Given the description of an element on the screen output the (x, y) to click on. 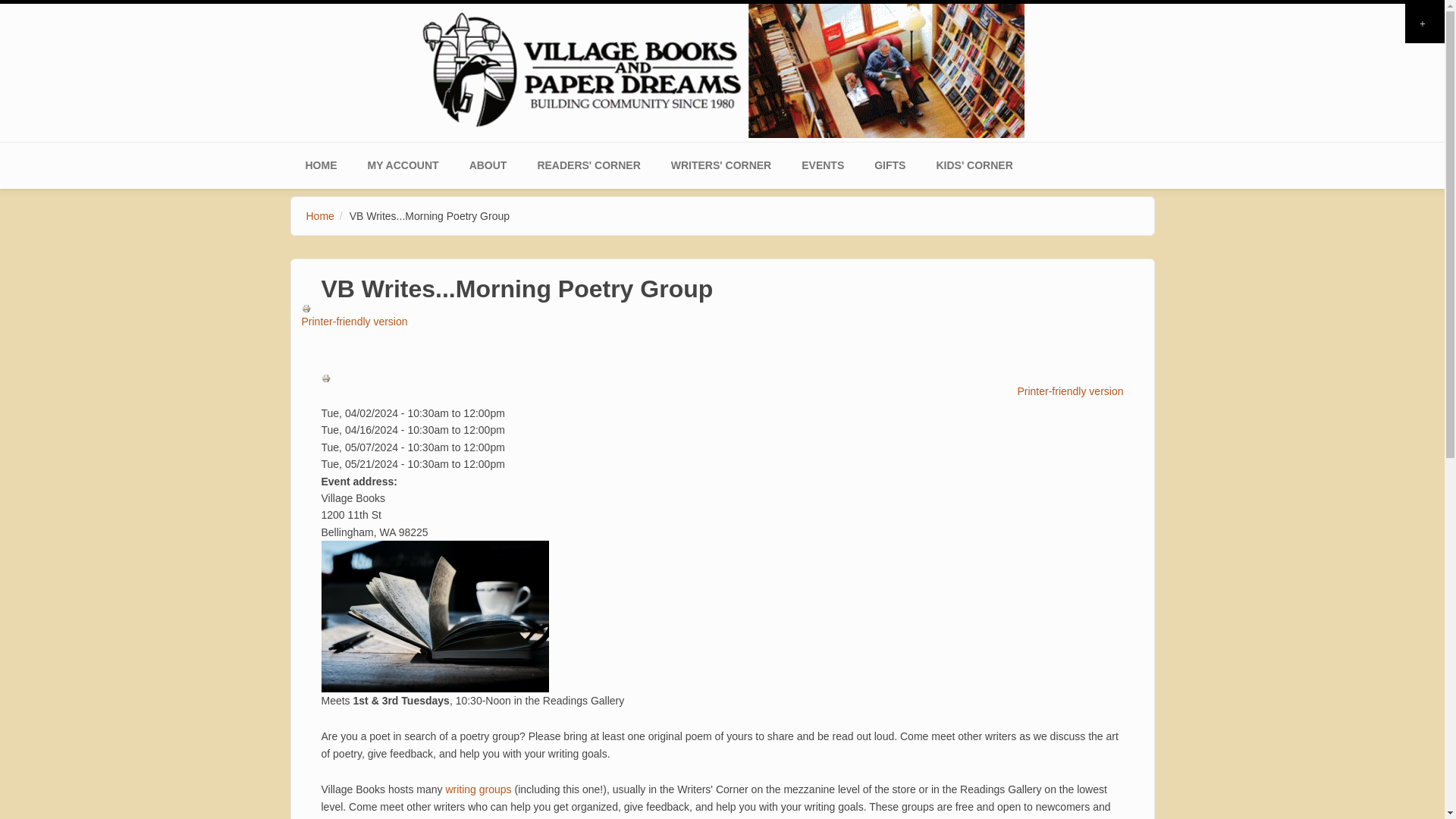
Printer-friendly version (327, 378)
ABOUT (488, 165)
KIDS' CORNER (973, 165)
WRITERS' CORNER (721, 165)
GIFTS (889, 165)
MY ACCOUNT (402, 165)
Display a printer-friendly version of this page. (727, 315)
Printer-friendly version (722, 392)
writing groups (478, 788)
Display a printer-friendly version of this page. (722, 392)
